Given the description of an element on the screen output the (x, y) to click on. 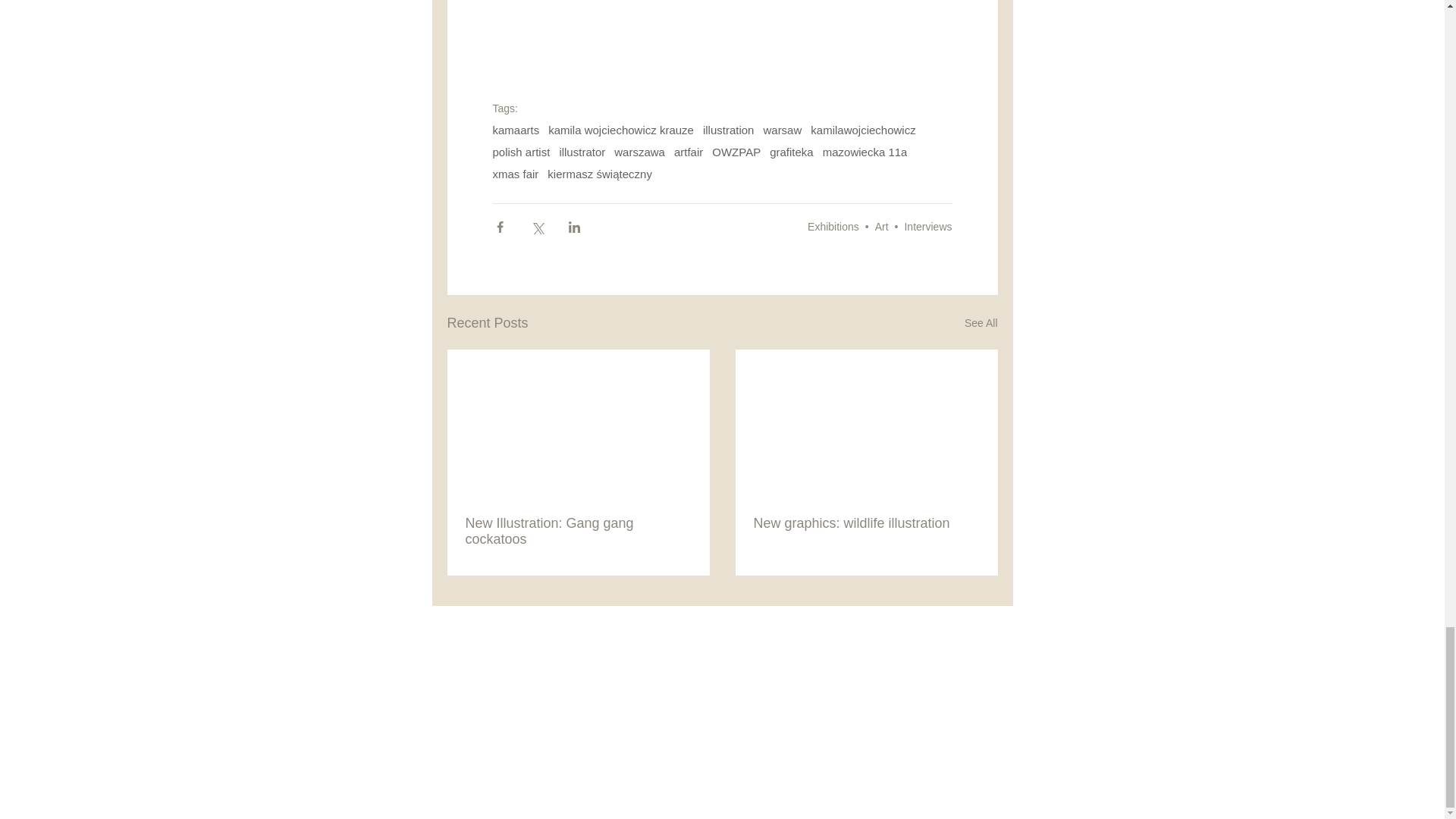
artfair (688, 151)
grafiteka (791, 151)
kamila wojciechowicz krauze (621, 129)
polish artist (521, 151)
warsaw (782, 129)
warszawa (639, 151)
illustrator (582, 151)
kamaarts (516, 129)
OWZPAP (735, 151)
kamilawojciechowicz (862, 129)
illustration (728, 129)
